Given the description of an element on the screen output the (x, y) to click on. 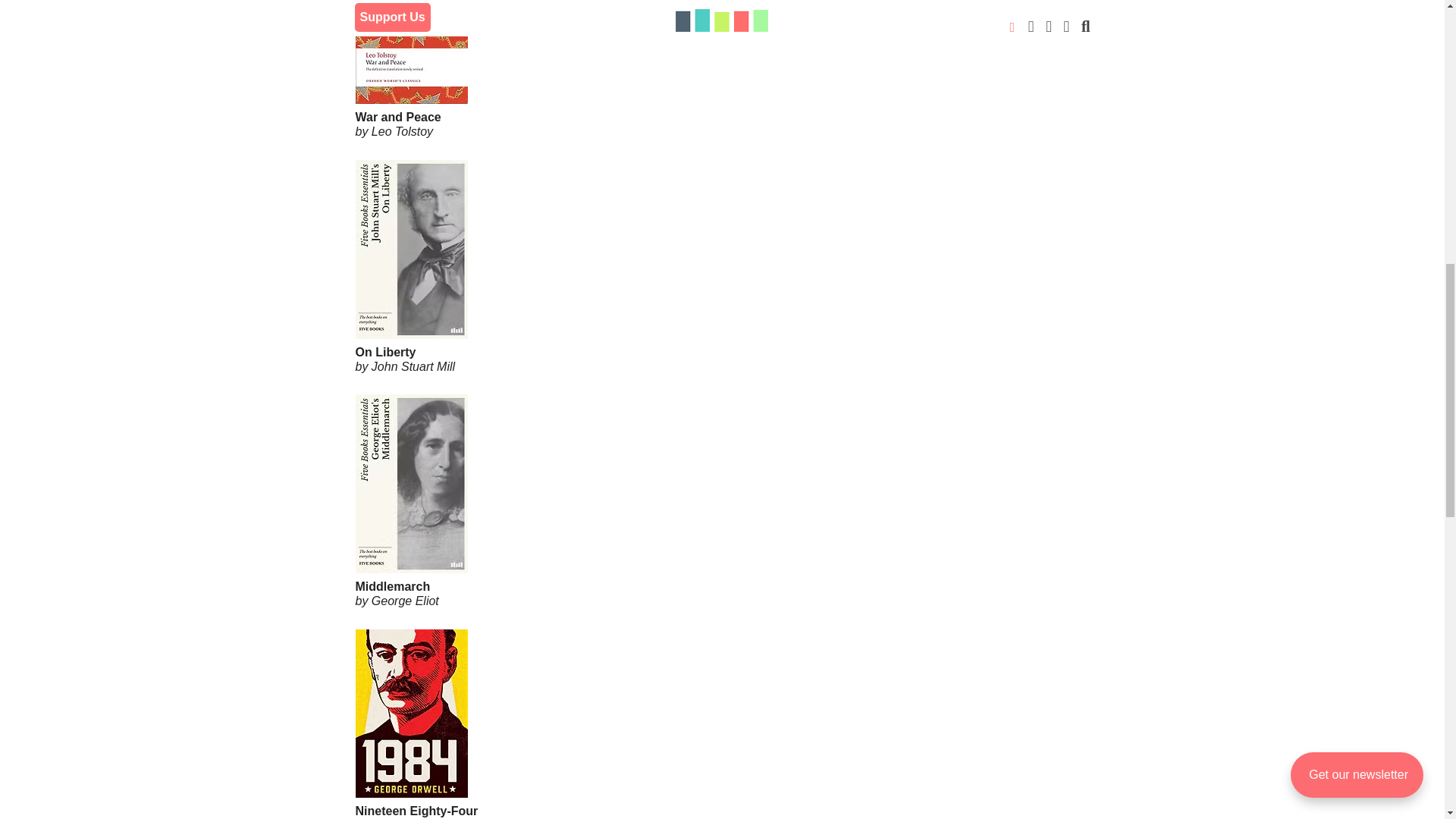
On Liberty (722, 308)
War and Peace (722, 76)
Nineteen Eighty-Four (722, 764)
Middlemarch (722, 543)
